Given the description of an element on the screen output the (x, y) to click on. 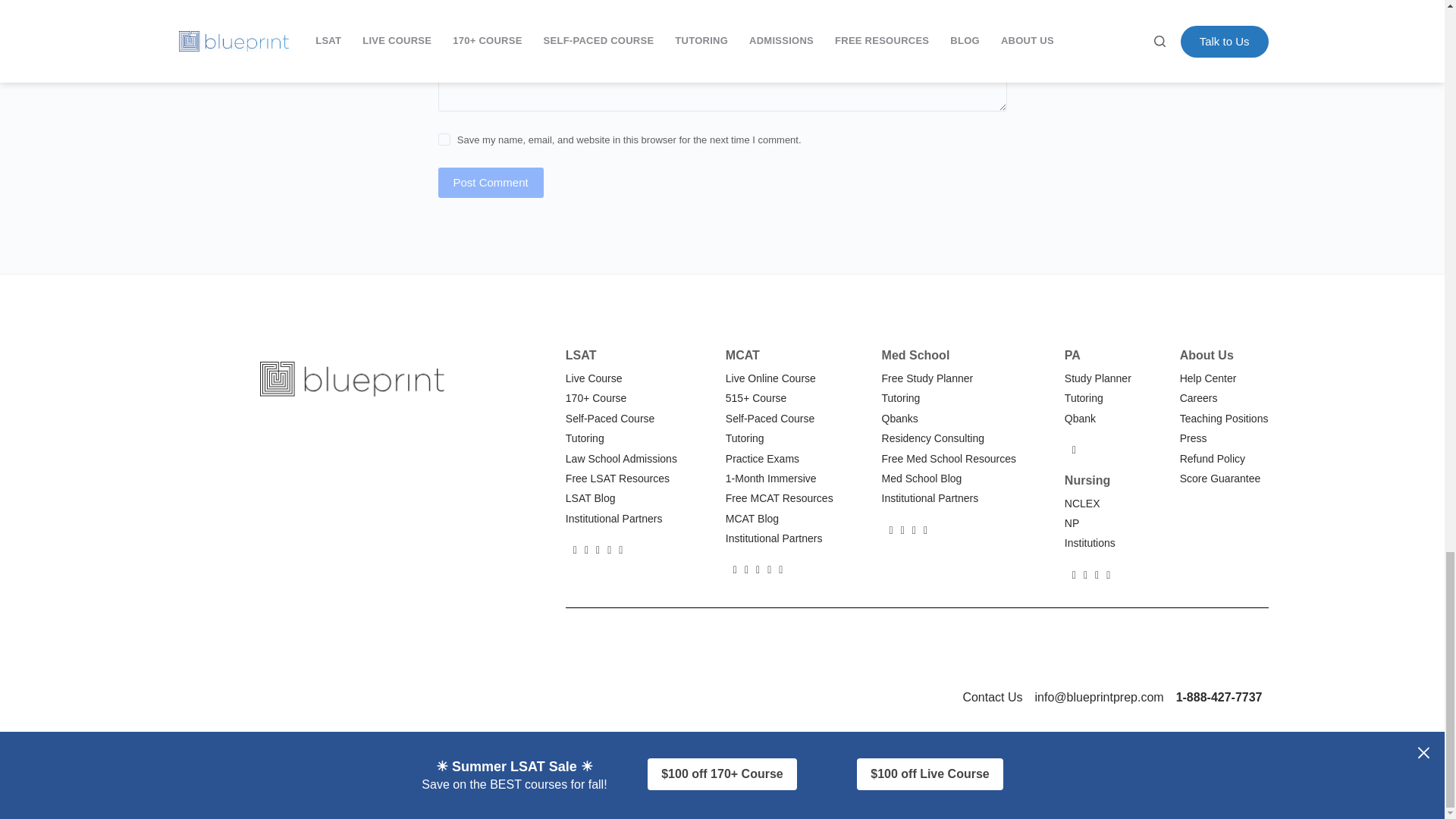
yes (443, 139)
